Given the description of an element on the screen output the (x, y) to click on. 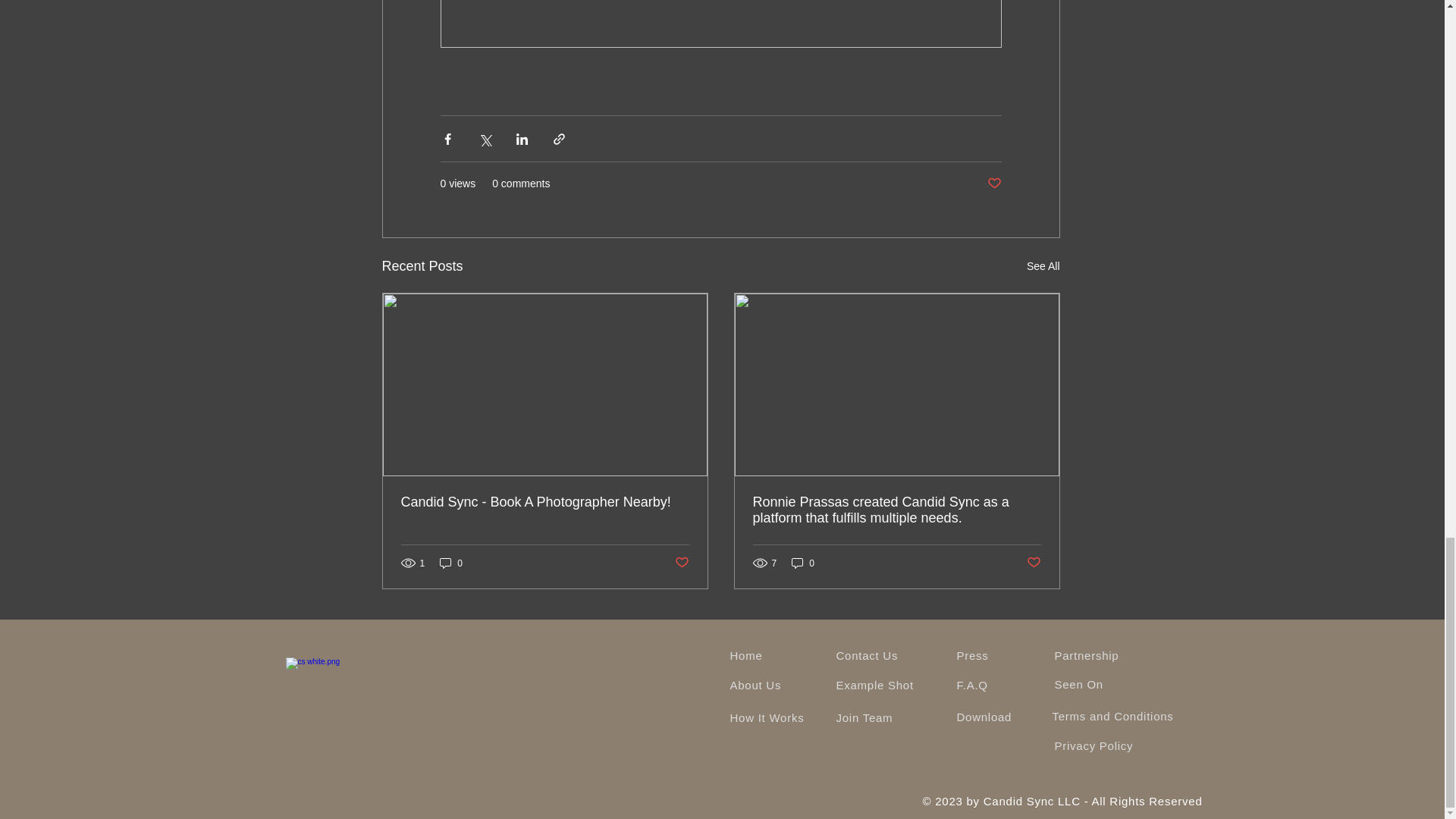
Contact Us (866, 655)
F.A.Q (972, 684)
Post not marked as liked (994, 183)
Terms and Conditions  (1114, 716)
Seen On (1078, 684)
About Us (754, 684)
See All (1042, 266)
0 (802, 563)
Home (745, 655)
Post not marked as liked (681, 562)
Join Team (863, 717)
Privacy Policy (1093, 745)
How It Works (766, 717)
Post not marked as liked (1033, 562)
